Given the description of an element on the screen output the (x, y) to click on. 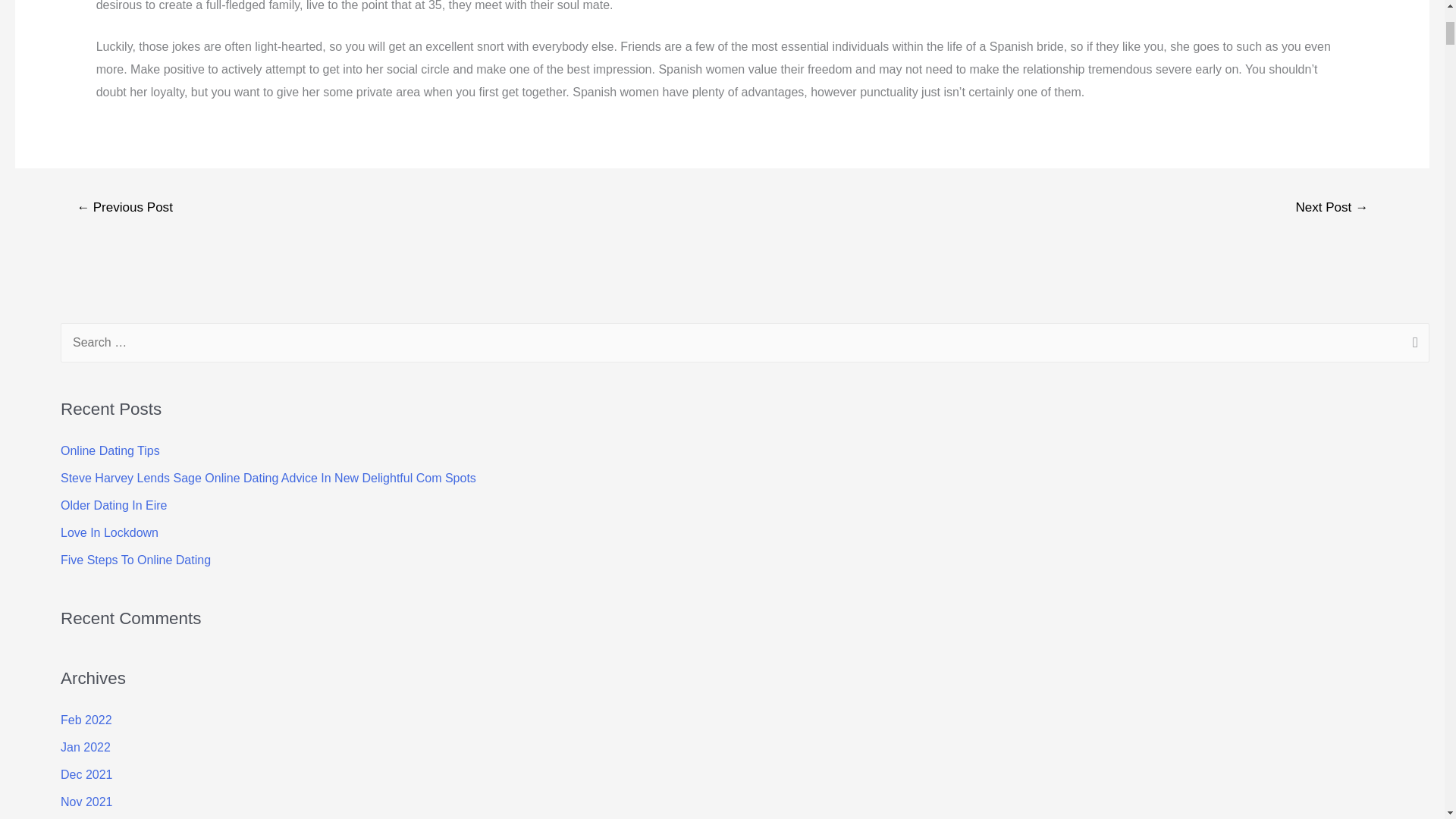
Love In Lockdown (109, 532)
Nov 2021 (87, 801)
Dec 2021 (87, 774)
Online Dating Tips (110, 450)
Five Steps To Online Dating (136, 559)
Older Dating In Eire (114, 504)
Jan 2022 (85, 747)
Feb 2022 (86, 719)
